Given the description of an element on the screen output the (x, y) to click on. 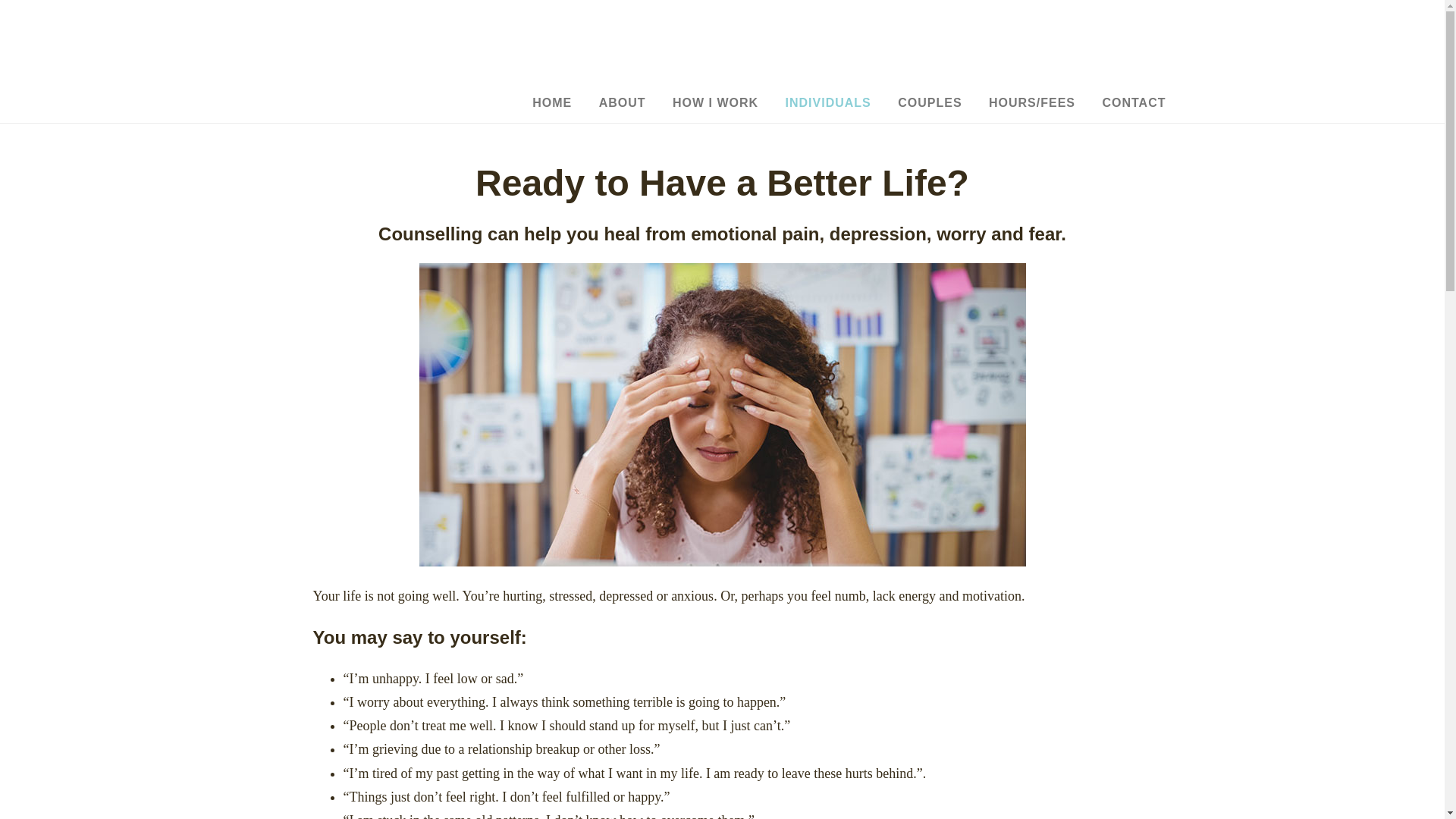
HOME (552, 102)
COUPLES (929, 102)
HOW I WORK (715, 102)
ABOUT (623, 102)
INDIVIDUALS (828, 102)
CONTACT (1133, 102)
